Given the description of an element on the screen output the (x, y) to click on. 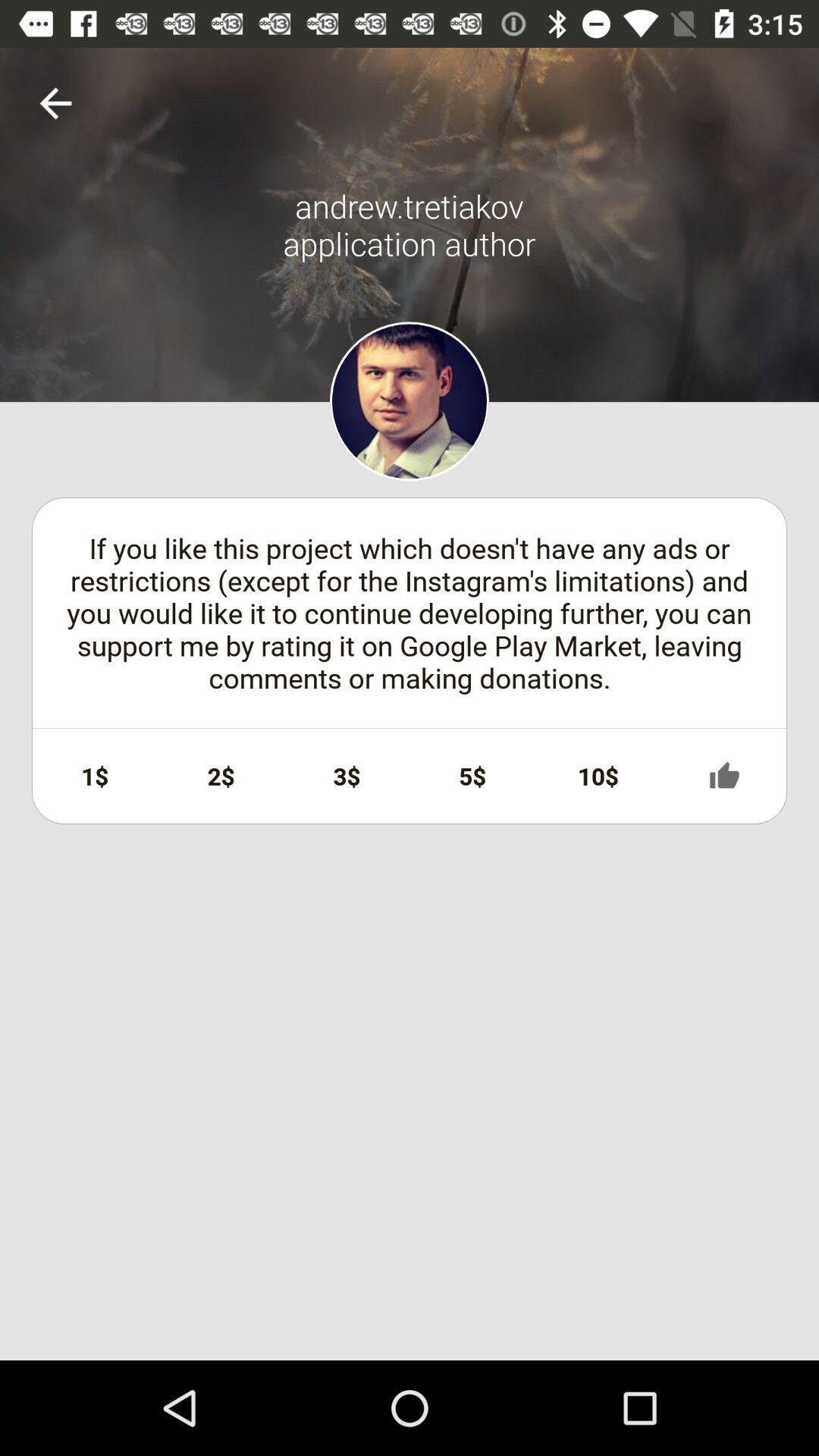
swipe until 3$ (347, 776)
